Given the description of an element on the screen output the (x, y) to click on. 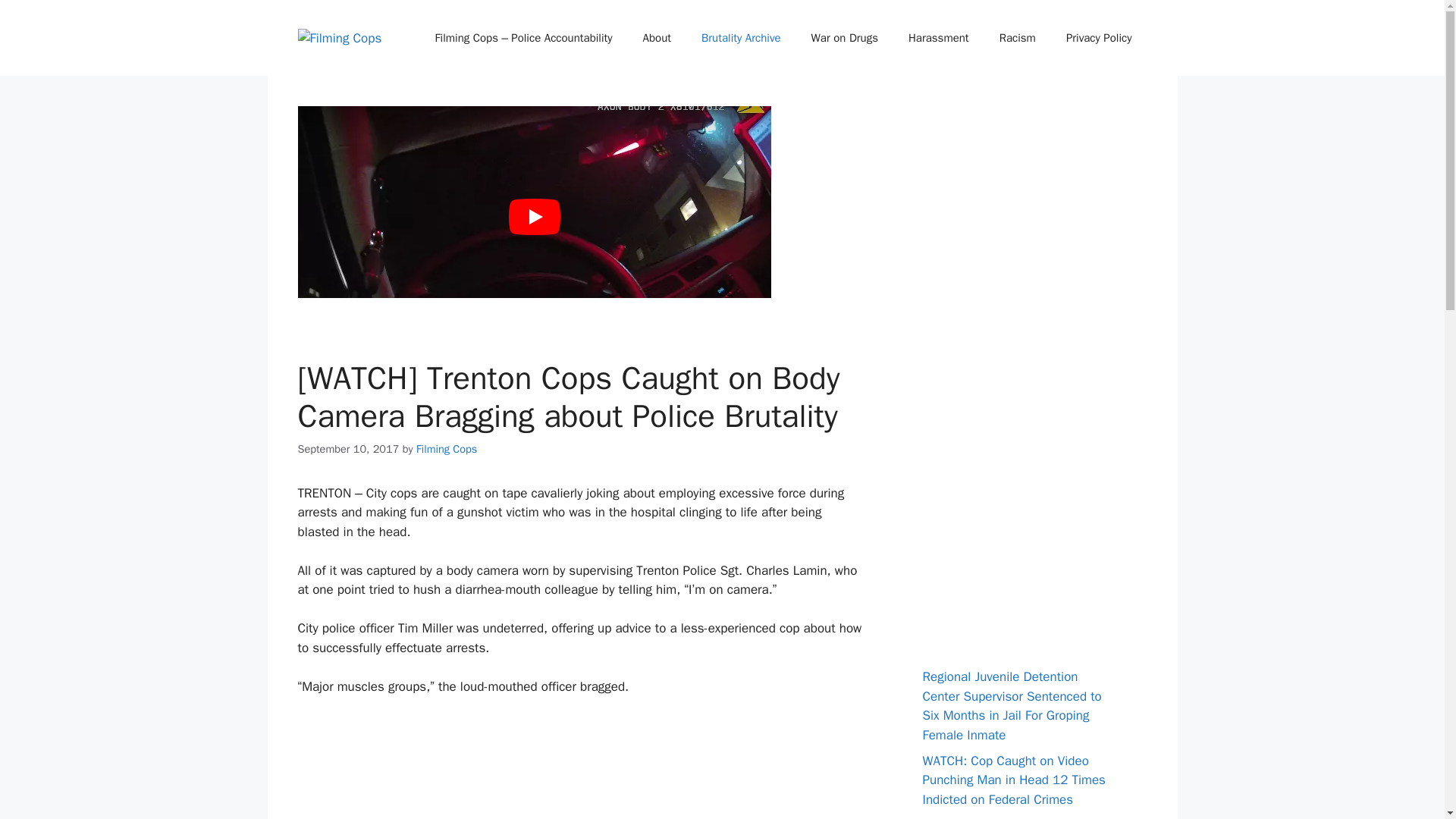
Filming Cops (446, 448)
Brutality Archive (740, 37)
War on Drugs (844, 37)
About (656, 37)
Advertisement (579, 767)
Privacy Policy (1099, 37)
Harassment (938, 37)
Racism (1017, 37)
View all posts by Filming Cops (446, 448)
